Given the description of an element on the screen output the (x, y) to click on. 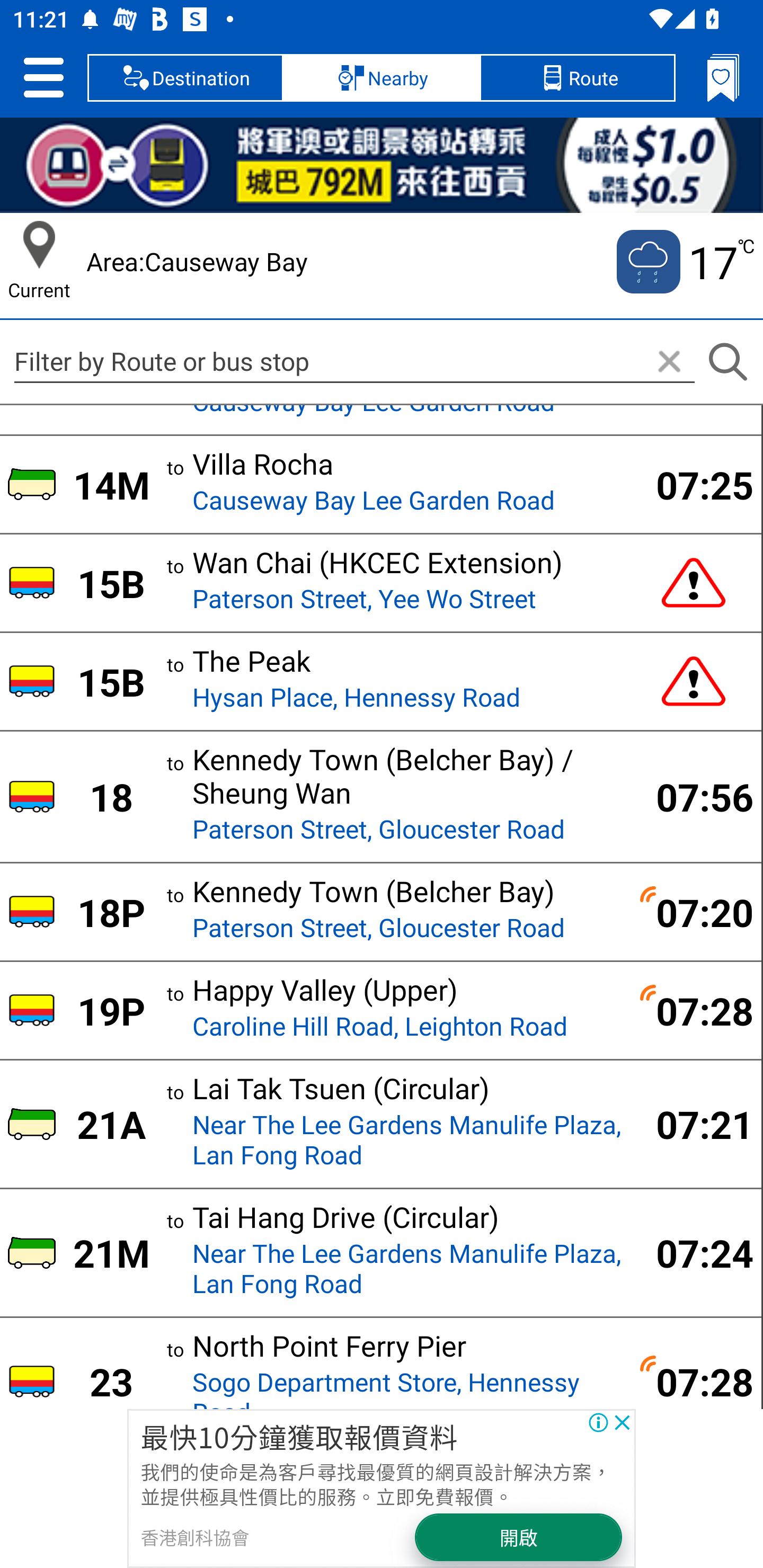
Destination (185, 77)
Nearby, selected (381, 77)
Route (577, 77)
Bookmarks (723, 77)
Setting (43, 77)
792M BRI (381, 165)
Current Location (38, 244)
Current temputure is  17  no 17 ℃ (684, 261)
Filter by Route or bus stop (354, 361)
Search (727, 362)
Clear (669, 361)
07:25 (693, 484)
07:56 (693, 796)
07:20 (693, 911)
07:28 (693, 1010)
07:21 (693, 1123)
07:24 (693, 1251)
07:28 (693, 1381)
最快10分鐘獲取報價資料 (299, 1435)
開啟 (519, 1537)
香港創科協會 (194, 1537)
